Given the description of an element on the screen output the (x, y) to click on. 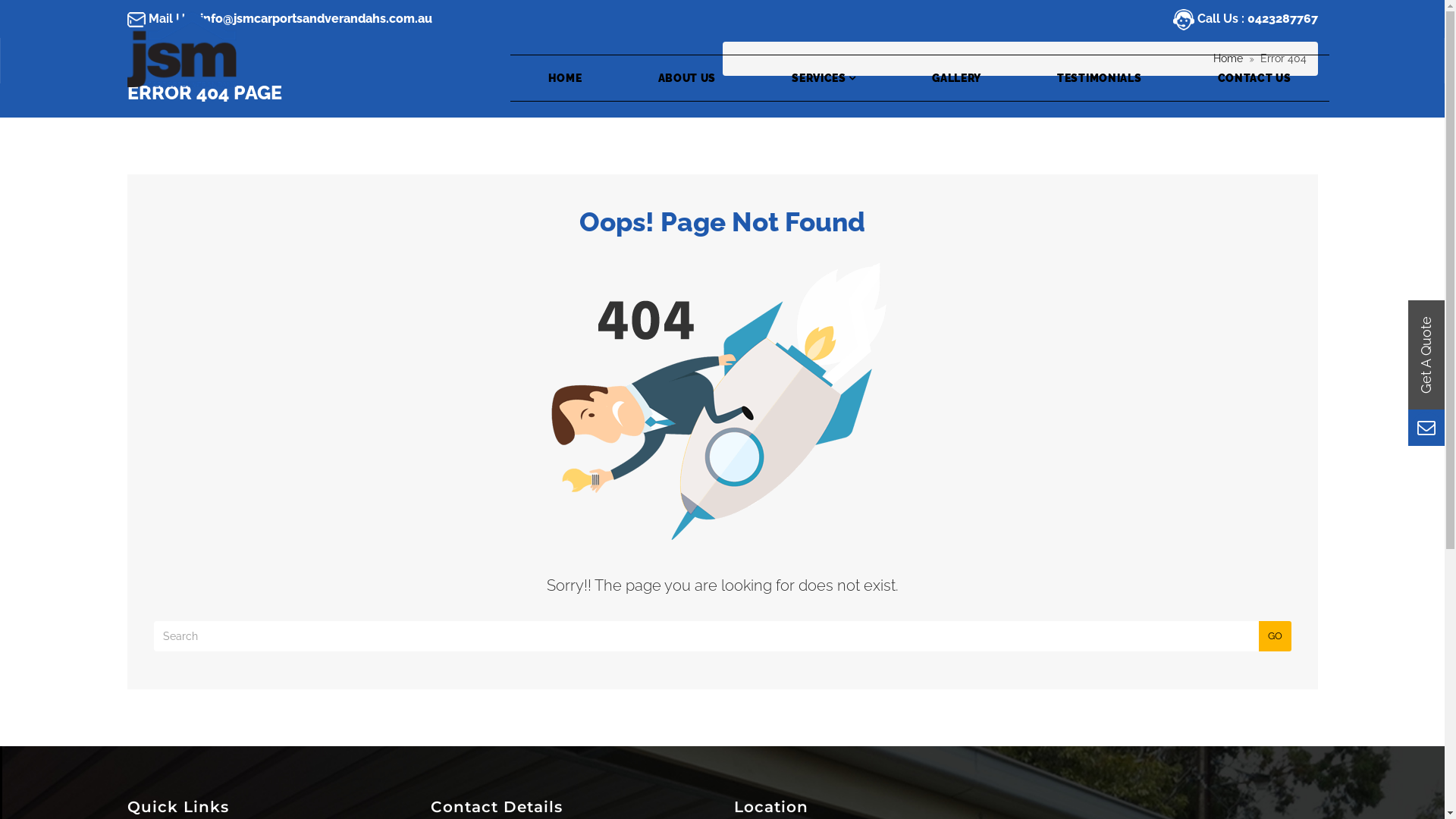
ABOUT US Element type: text (687, 77)
GALLERY Element type: text (956, 77)
Home Element type: text (1227, 58)
SERVICES Element type: text (823, 77)
0423287767 Element type: text (1281, 18)
TESTIMONIALS Element type: text (1099, 77)
CONTACT US Element type: text (1254, 77)
GO Element type: text (1274, 636)
HOME Element type: text (565, 77)
info@jsmcarportsandverandahs.com.au Element type: text (316, 18)
